Given the description of an element on the screen output the (x, y) to click on. 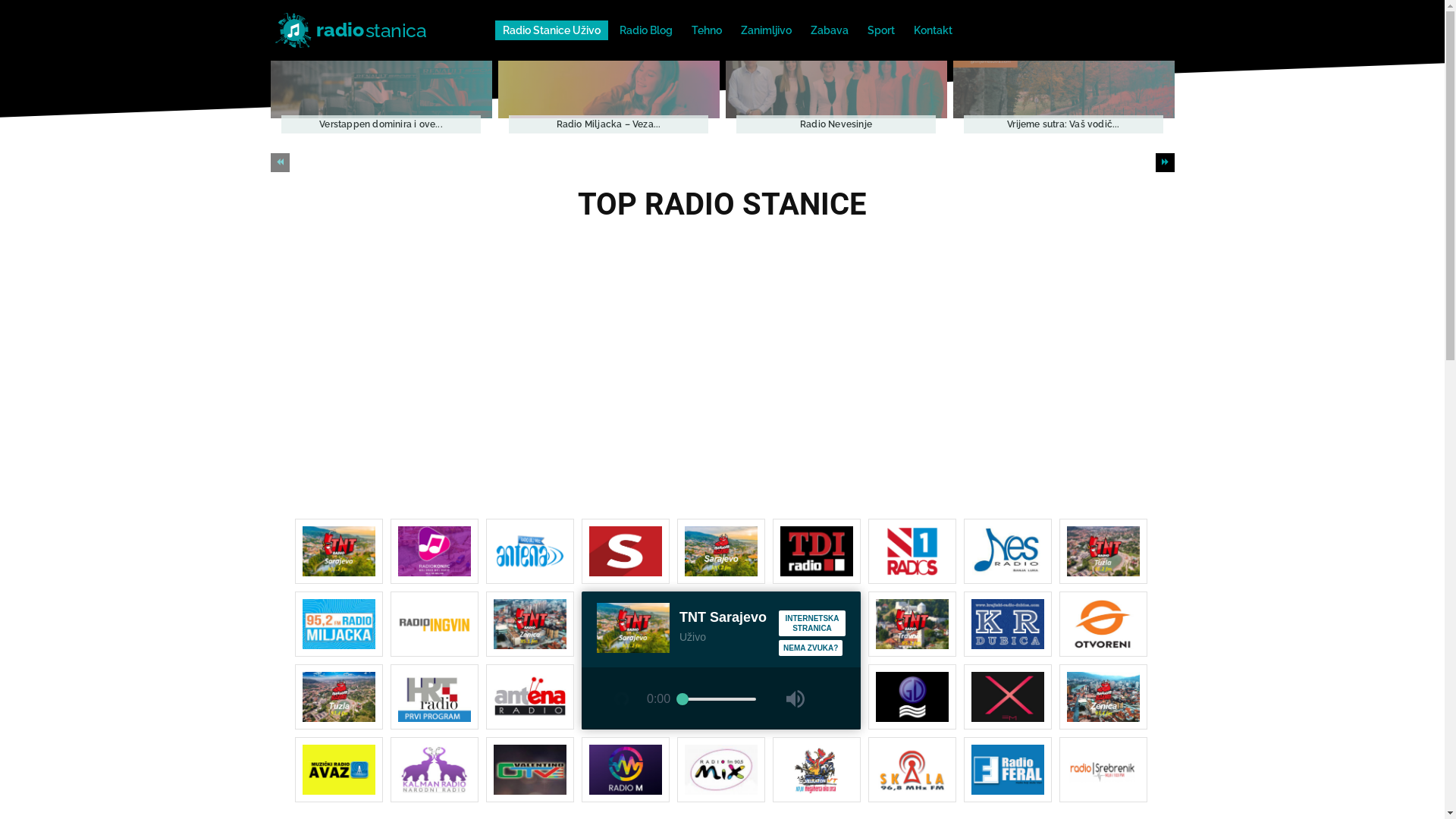
Radio Blog Element type: text (645, 30)
Zabava Element type: text (829, 30)
Sport Element type: text (880, 30)
Radio Nevesinje Element type: text (836, 124)
Verstappen dominira i ove... Element type: text (380, 124)
radio
stanica Element type: text (363, 30)
Zanimljivo Element type: text (766, 30)
Verstappen dominira i ove godine Element type: hover (380, 89)
Kontakt Element type: text (933, 30)
Tehno Element type: text (706, 30)
Radio Nevesinje Element type: hover (835, 89)
Advertisement Element type: hover (721, 339)
